Given the description of an element on the screen output the (x, y) to click on. 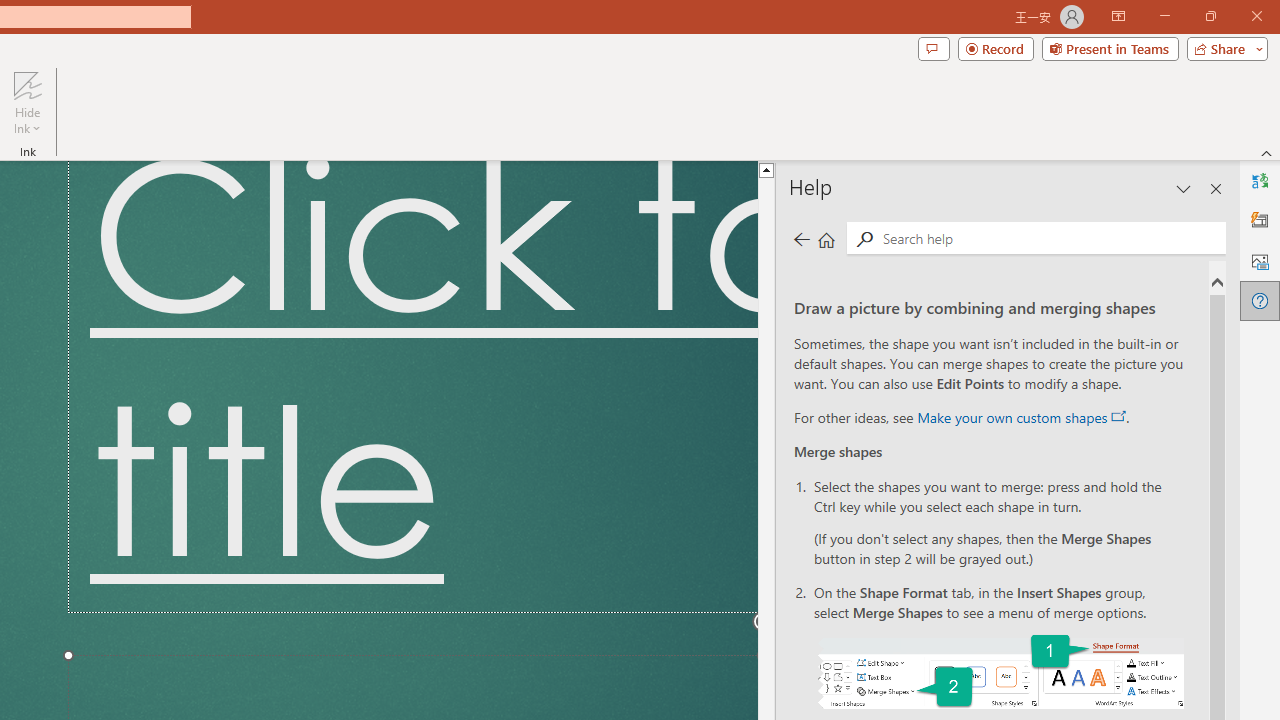
On the Shape Format tab, select Merge Shapes. (1000, 671)
Previous page (801, 238)
Title TextBox (412, 386)
Alt Text (1260, 260)
